Given the description of an element on the screen output the (x, y) to click on. 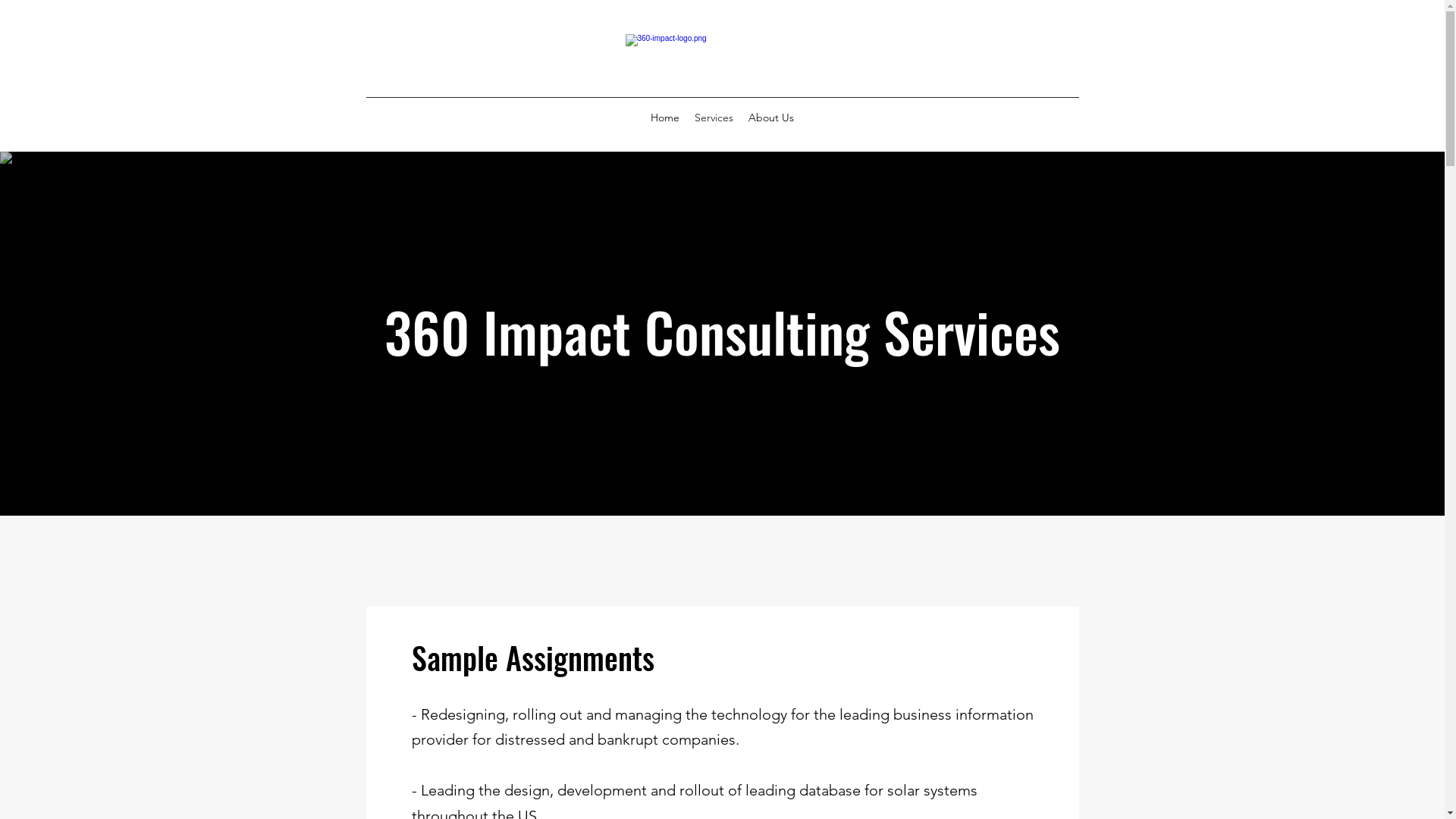
Home Element type: text (665, 117)
About Us Element type: text (770, 117)
Services Element type: text (713, 117)
